Given the description of an element on the screen output the (x, y) to click on. 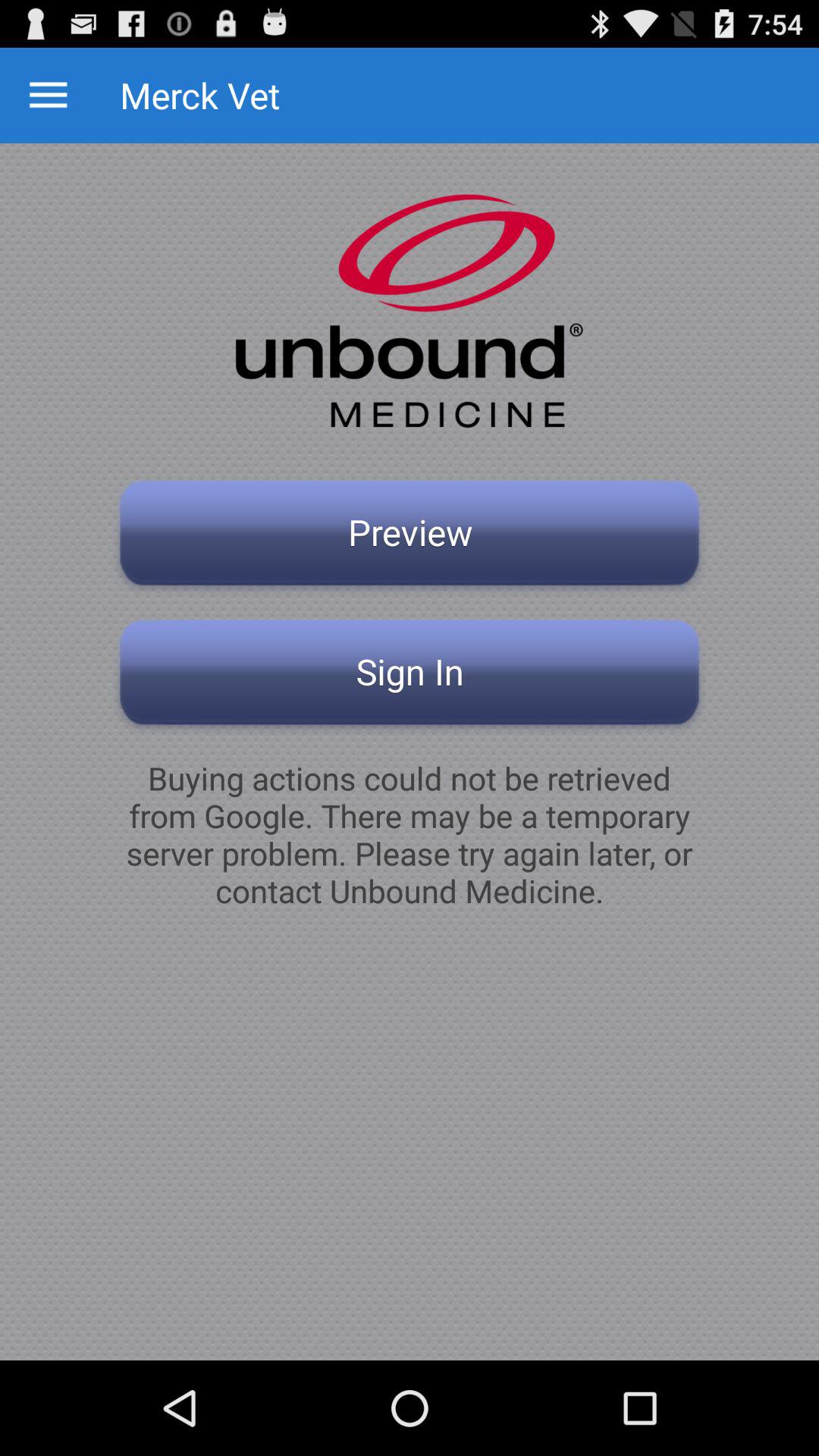
turn on item above the sign in icon (409, 537)
